Given the description of an element on the screen output the (x, y) to click on. 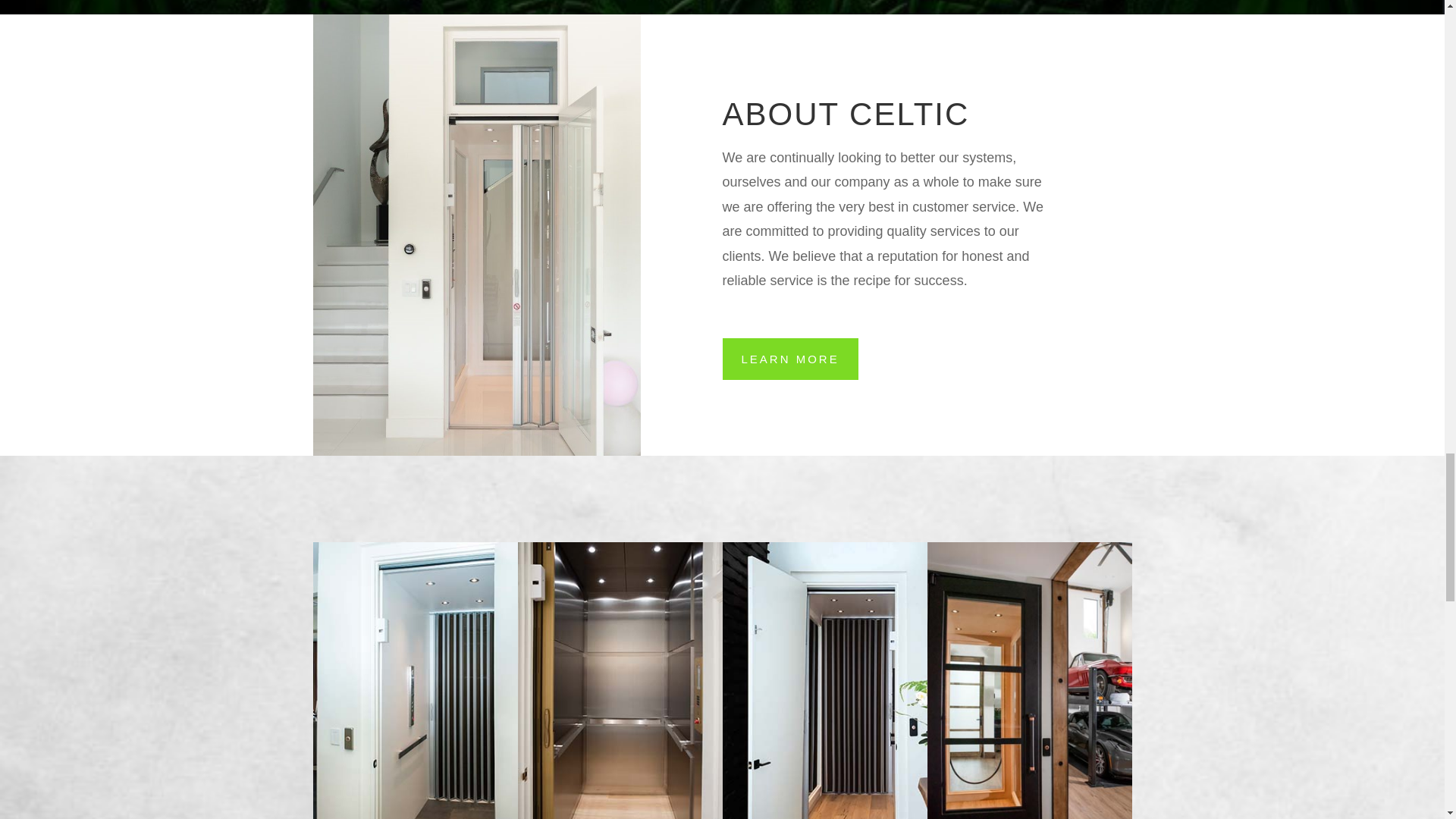
Home 9 (824, 680)
Home 7 (414, 680)
LEARN MORE (789, 359)
Home 8 (619, 680)
Home 10 (1028, 680)
